Given the description of an element on the screen output the (x, y) to click on. 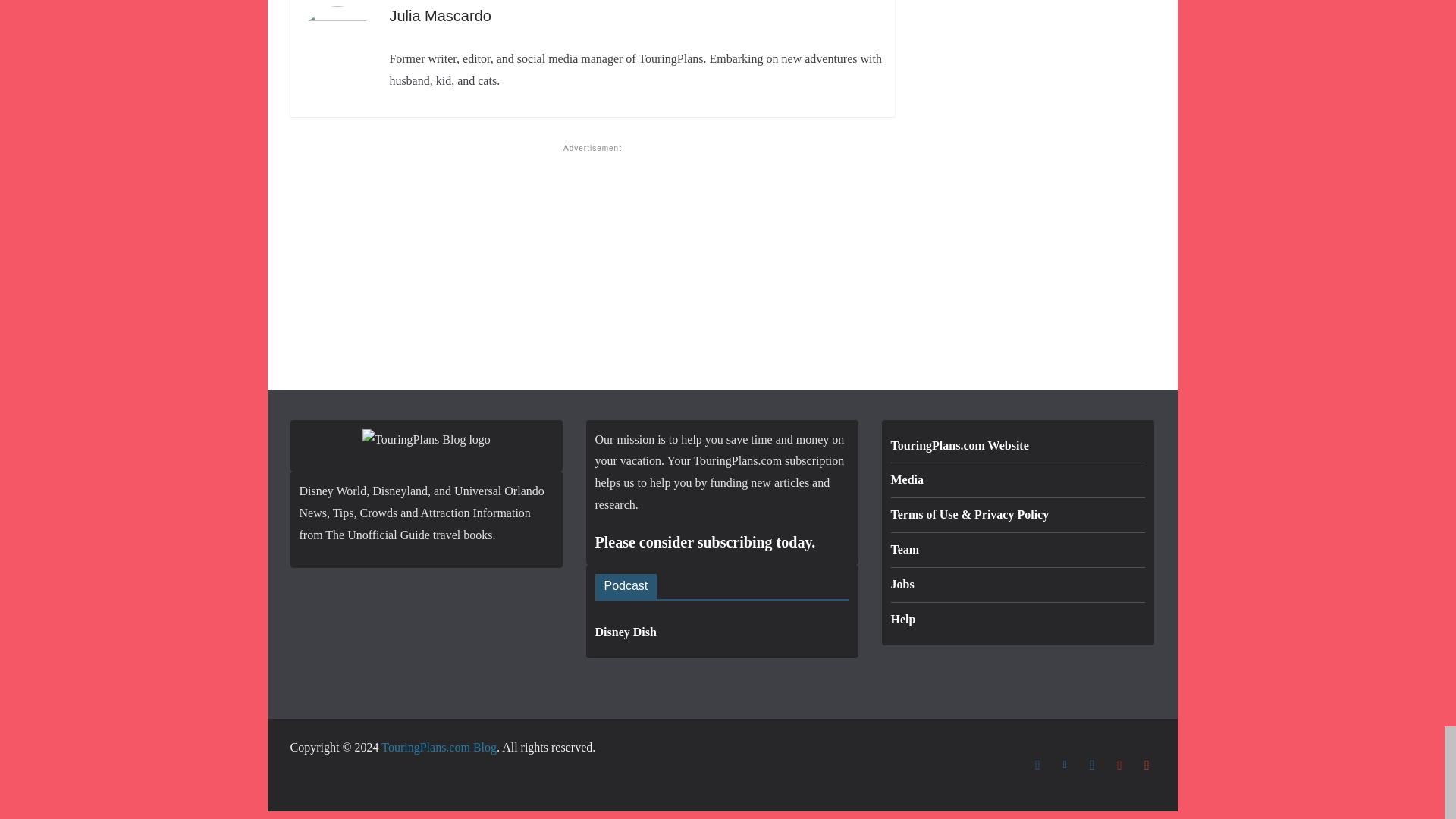
TouringPlans.com Blog (438, 747)
